Given the description of an element on the screen output the (x, y) to click on. 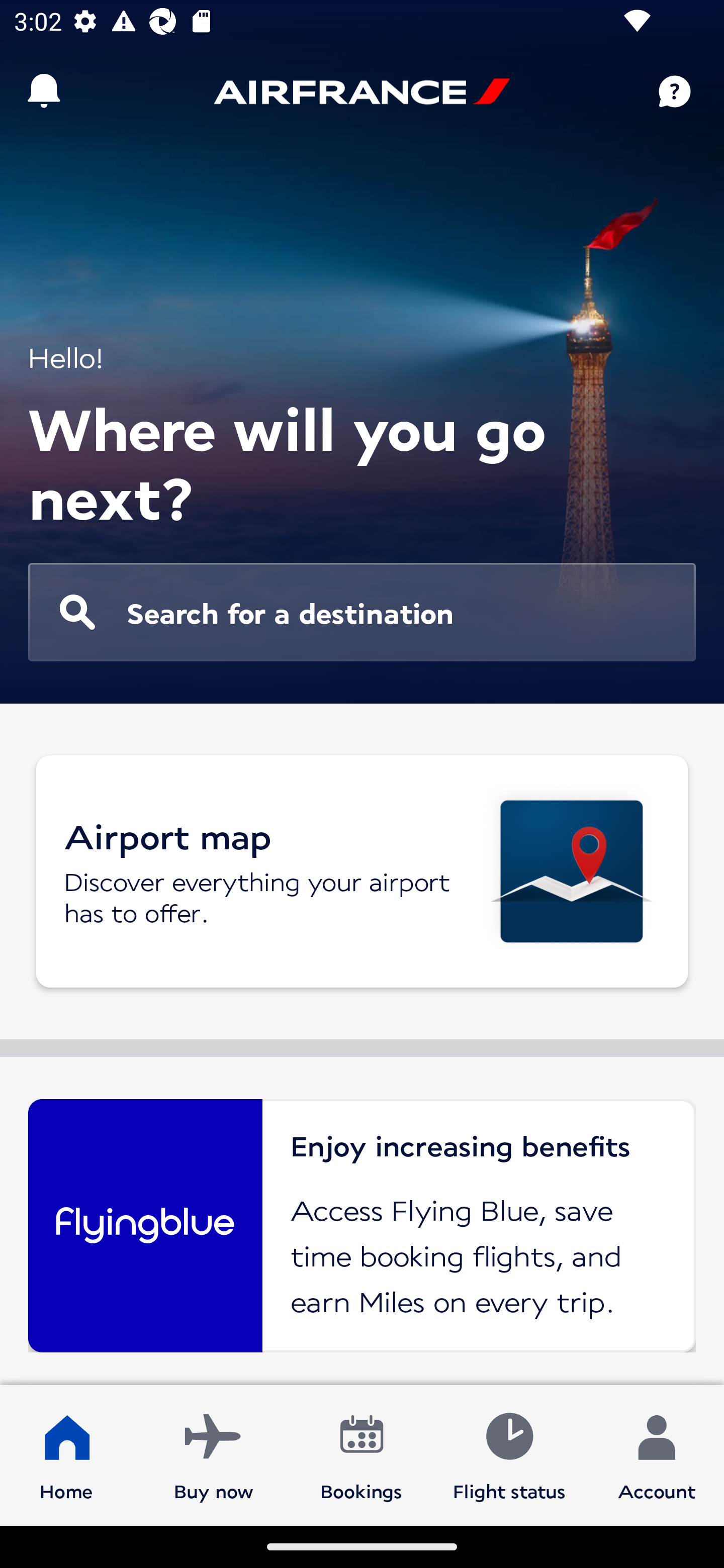
Search for a destination (361, 611)
Buy now (213, 1454)
Bookings (361, 1454)
Flight status (509, 1454)
Account (657, 1454)
